Given the description of an element on the screen output the (x, y) to click on. 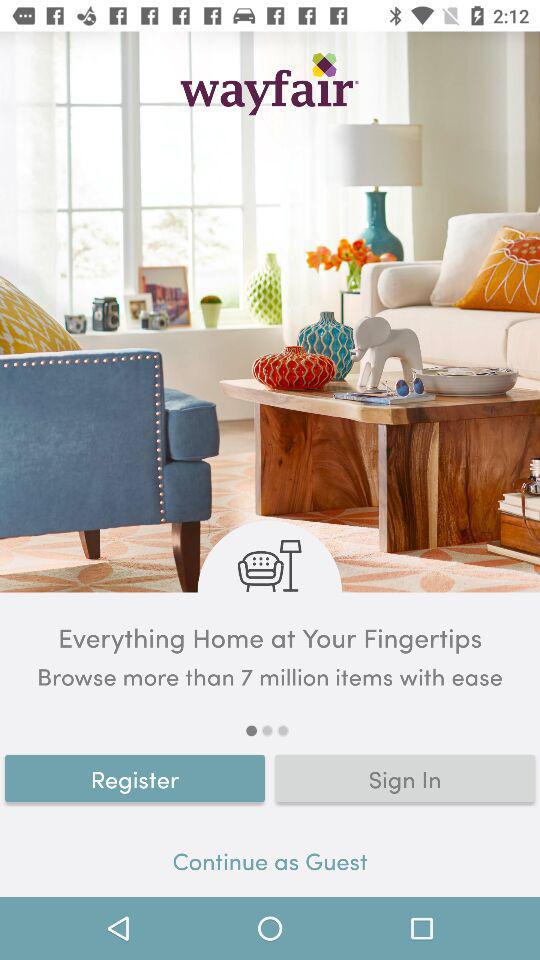
open continue as guest (270, 863)
